Given the description of an element on the screen output the (x, y) to click on. 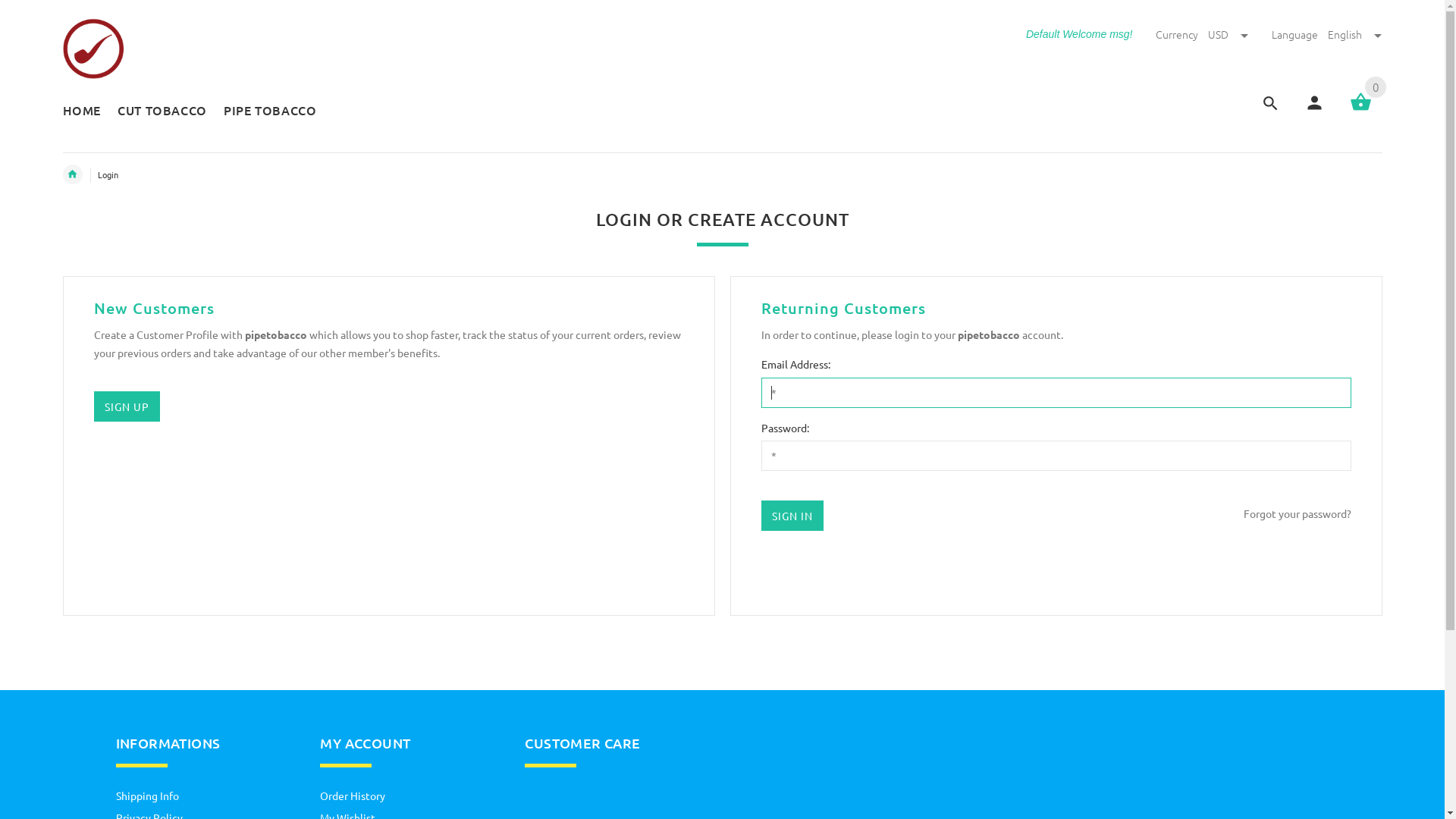
0 Element type: text (1360, 108)
CUT TOBACCO Element type: text (162, 111)
Order History Element type: text (352, 795)
Shipping Info Element type: text (146, 795)
PIPE TOBACCO Element type: text (265, 111)
English Element type: text (1354, 33)
Home Element type: text (71, 174)
USD Element type: text (1229, 33)
Forgot your password? Element type: text (1297, 513)
Sign In Element type: text (792, 515)
HOME Element type: text (85, 111)
Sign Up Element type: text (127, 406)
